Given the description of an element on the screen output the (x, y) to click on. 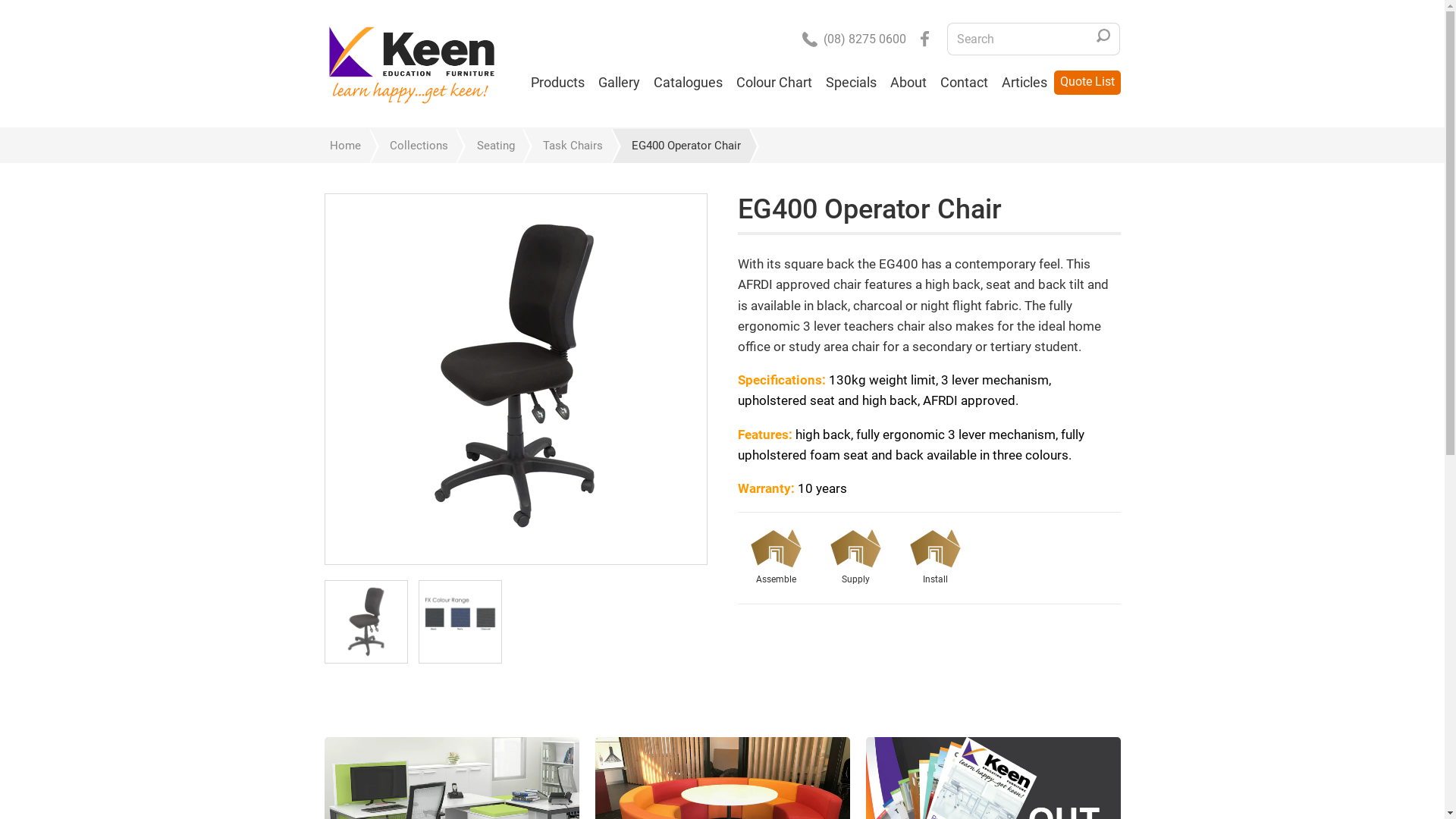
Colour Chart Element type: text (774, 82)
Contact Element type: text (963, 82)
Quote List Element type: text (1087, 82)
Home Element type: text (345, 145)
Gallery Element type: text (618, 82)
Seating Element type: text (488, 145)
Catalogues Element type: text (687, 82)
Collections Element type: text (412, 145)
Install Element type: text (934, 558)
Specials Element type: text (851, 82)
Articles Element type: text (1024, 82)
Task Chairs Element type: text (565, 145)
Assemble Element type: text (775, 558)
Supply Element type: text (855, 558)
Products Element type: text (556, 82)
  (08) 8275 0600 Element type: text (854, 38)
About Element type: text (907, 82)
